Given the description of an element on the screen output the (x, y) to click on. 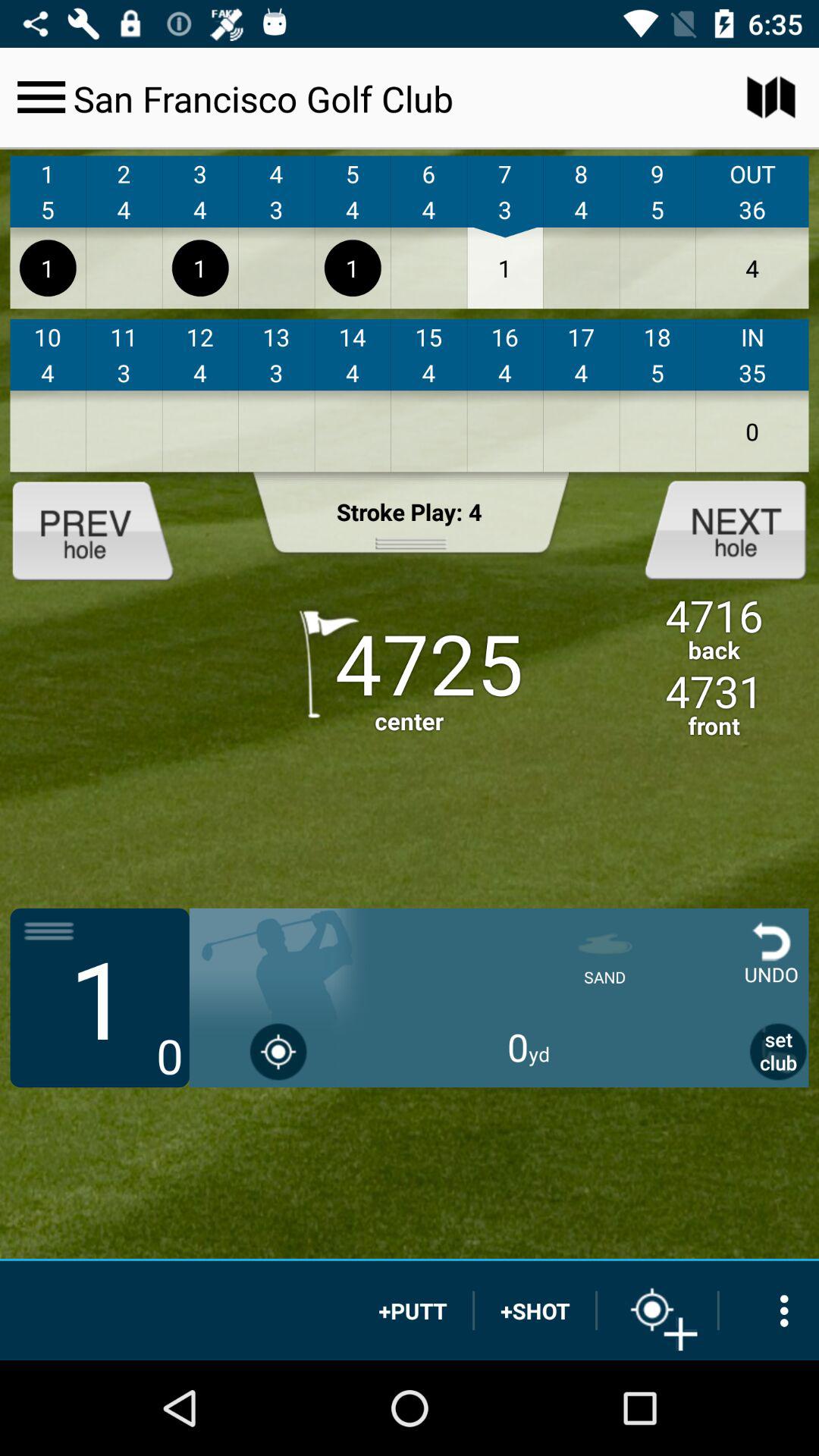
more options (769, 1310)
